Given the description of an element on the screen output the (x, y) to click on. 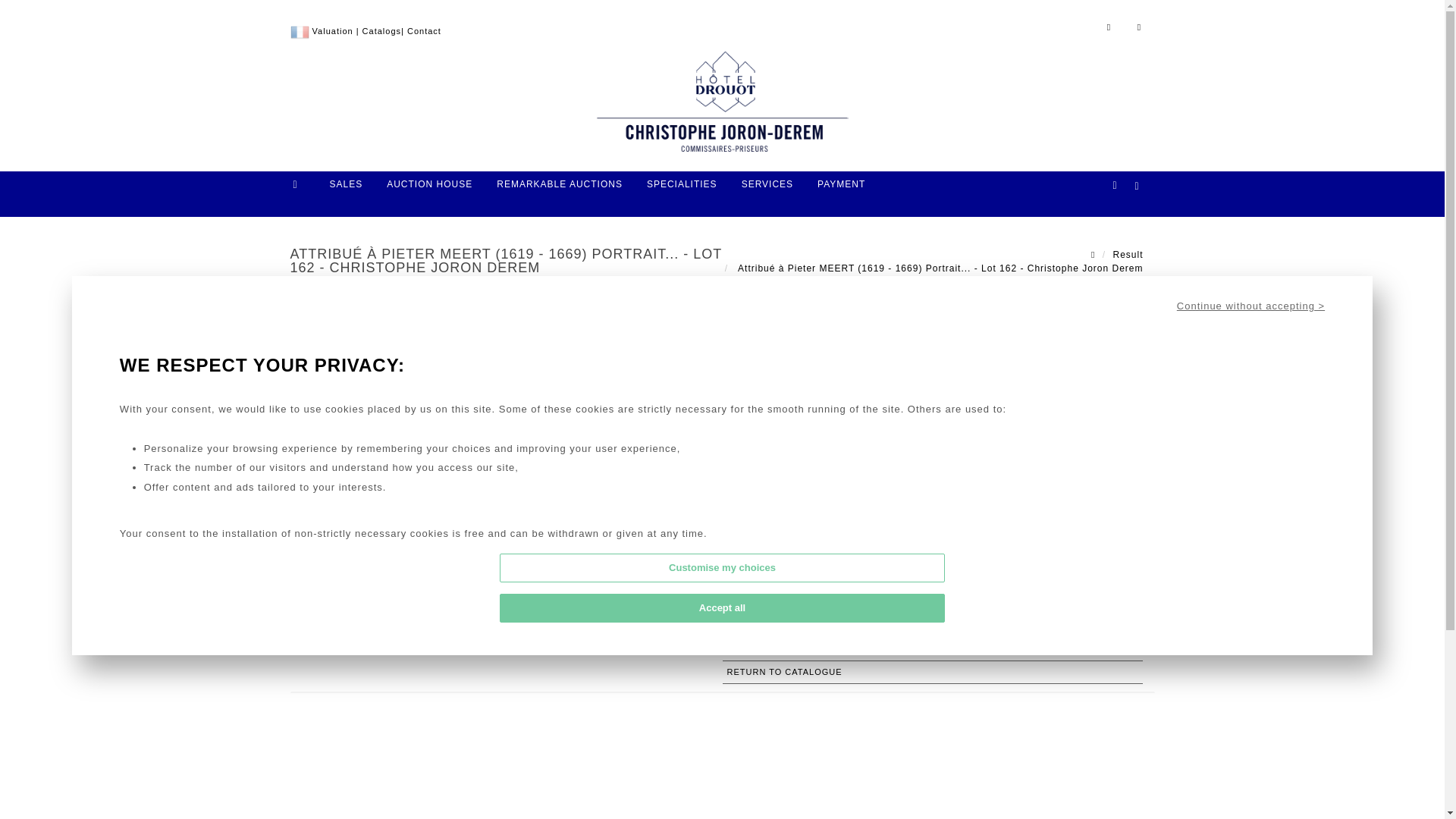
PAYMENT (841, 190)
Contact (424, 31)
Valuation (333, 31)
REMARKABLE AUCTIONS (558, 190)
AUCTION HOUSE (429, 190)
Catalogs (381, 31)
SALES (346, 190)
SERVICES (767, 190)
SPECIALITIES (681, 190)
